Given the description of an element on the screen output the (x, y) to click on. 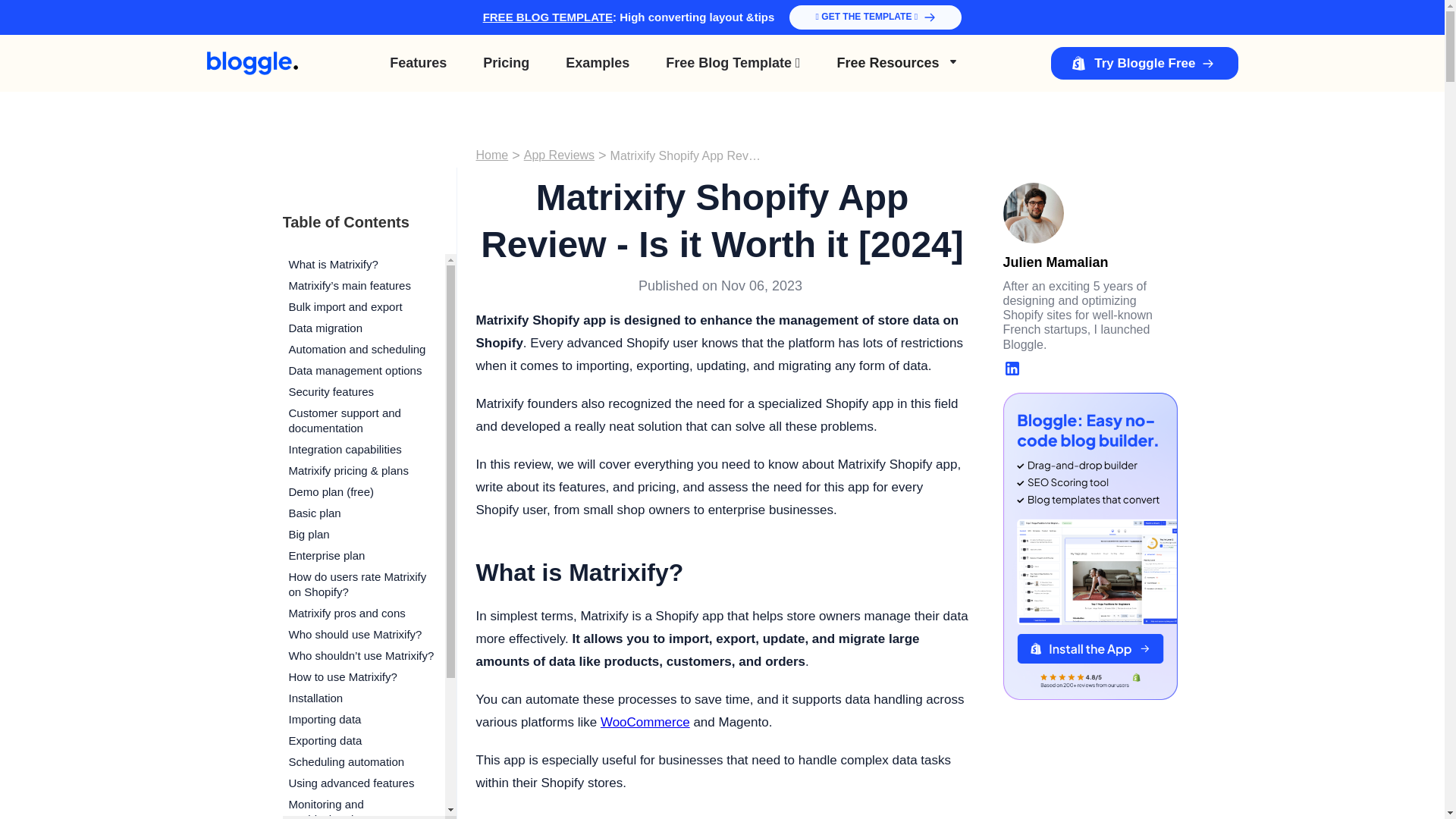
Pricing (505, 62)
Bulk import and export (363, 306)
Features (417, 62)
Home (492, 155)
Automation and scheduling (363, 349)
Data migration (363, 328)
What is Matrixify? (363, 264)
App Reviews (559, 155)
Try Bloggle Free (1144, 62)
Examples (597, 62)
